Given the description of an element on the screen output the (x, y) to click on. 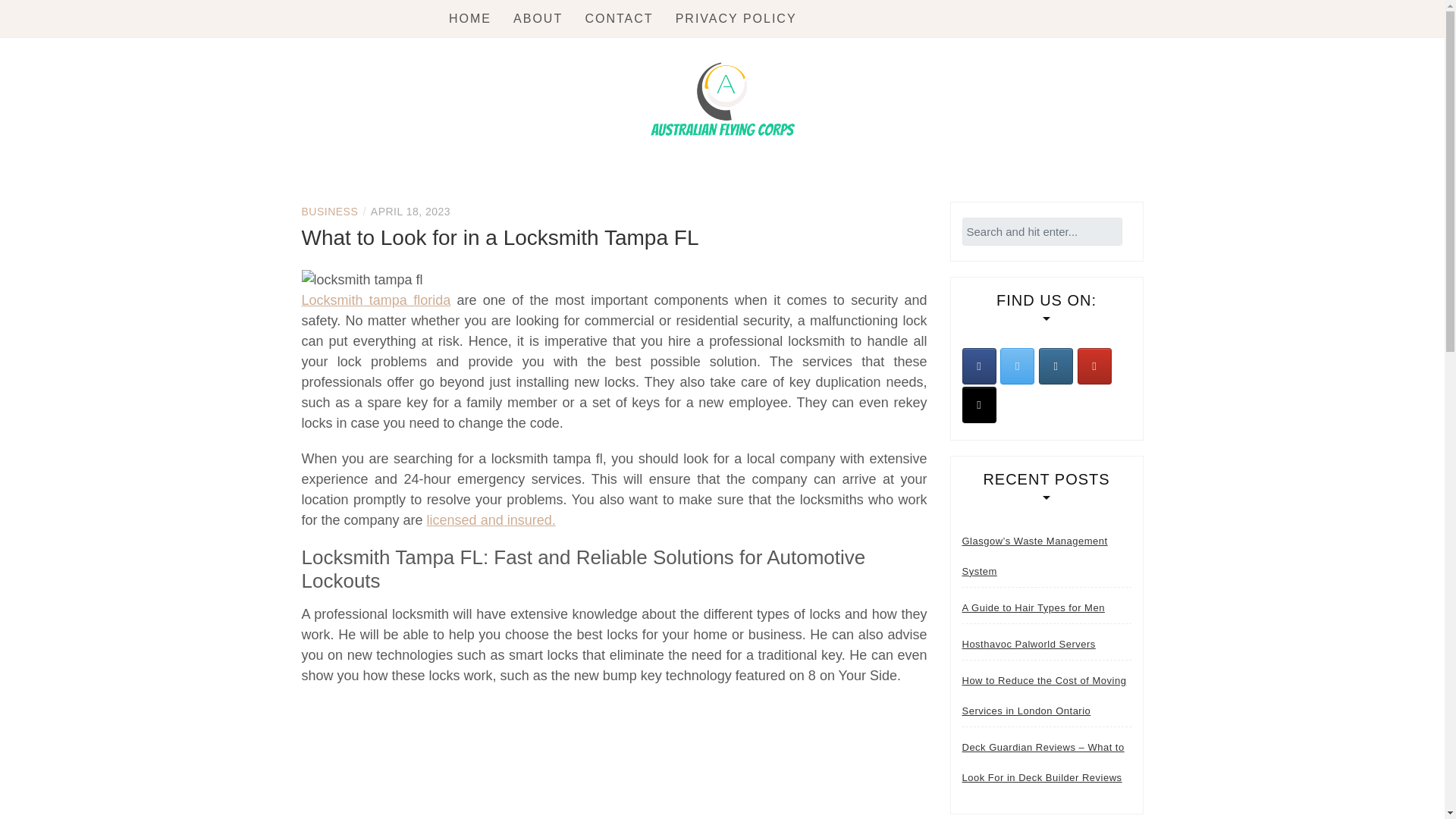
Hosthavoc Palworld Servers (1027, 644)
PRIVACY POLICY (735, 18)
CONTACT (618, 18)
Locksmith tampa florida (376, 299)
AUSTRALIAN FLYING CORPS (671, 187)
HOME (470, 18)
BUSINESS (329, 211)
Australian Flying Corps on Tiktok (977, 404)
licensed and insured. (491, 519)
How to Reduce the Cost of Moving Services in London Ontario (1045, 695)
